Given the description of an element on the screen output the (x, y) to click on. 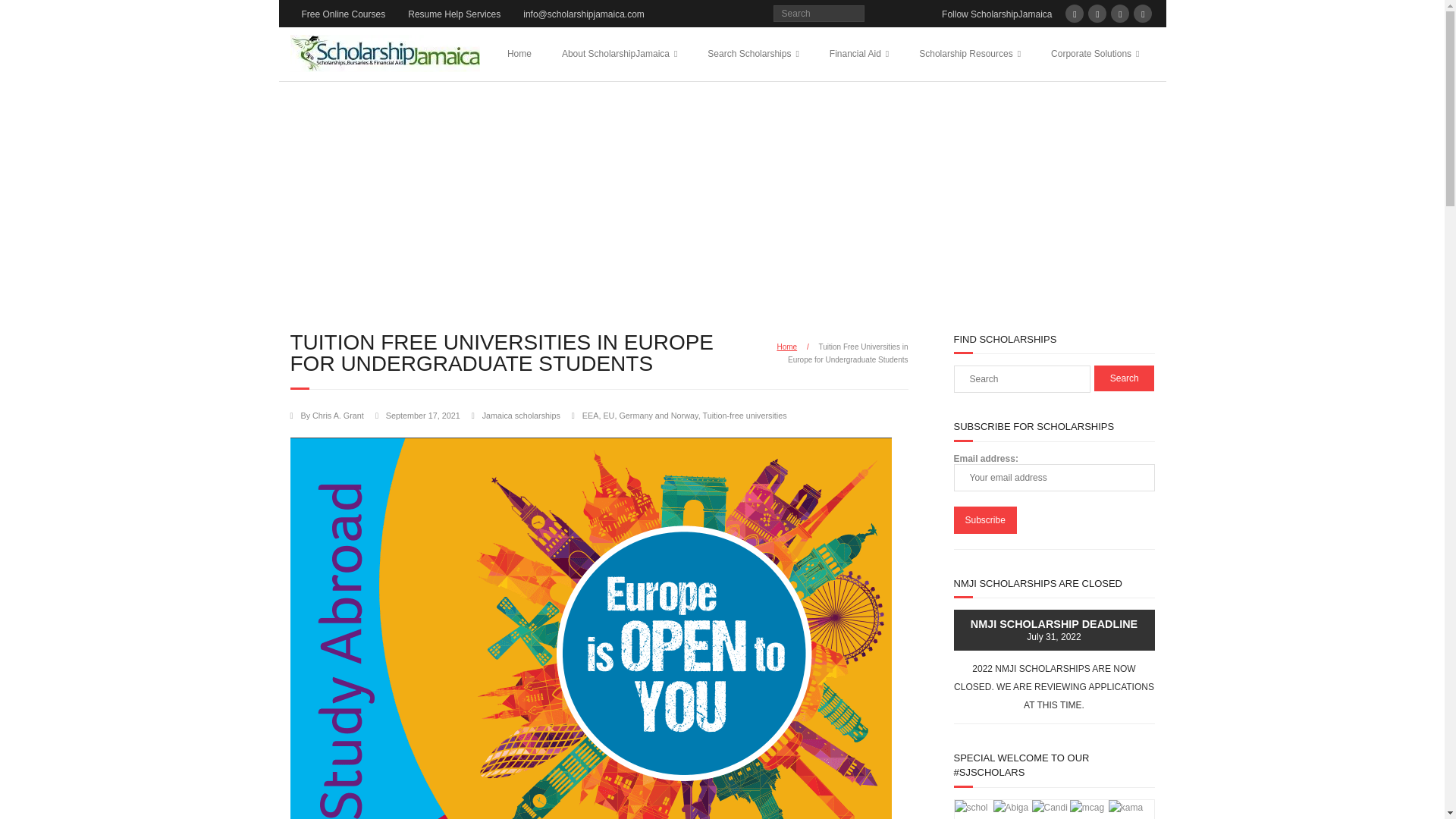
Free Online Courses (342, 13)
About ScholarshipJamaica (620, 53)
View all posts by Chris A. Grant (338, 415)
Search Scholarships (753, 53)
Home (519, 53)
scholarshipja2016 (971, 809)
Search (25, 13)
Subscribe (984, 519)
Candi (1048, 808)
Search (1124, 378)
Resume Help Services (454, 13)
Search (1124, 378)
Abigail Wheatley (1010, 809)
